Given the description of an element on the screen output the (x, y) to click on. 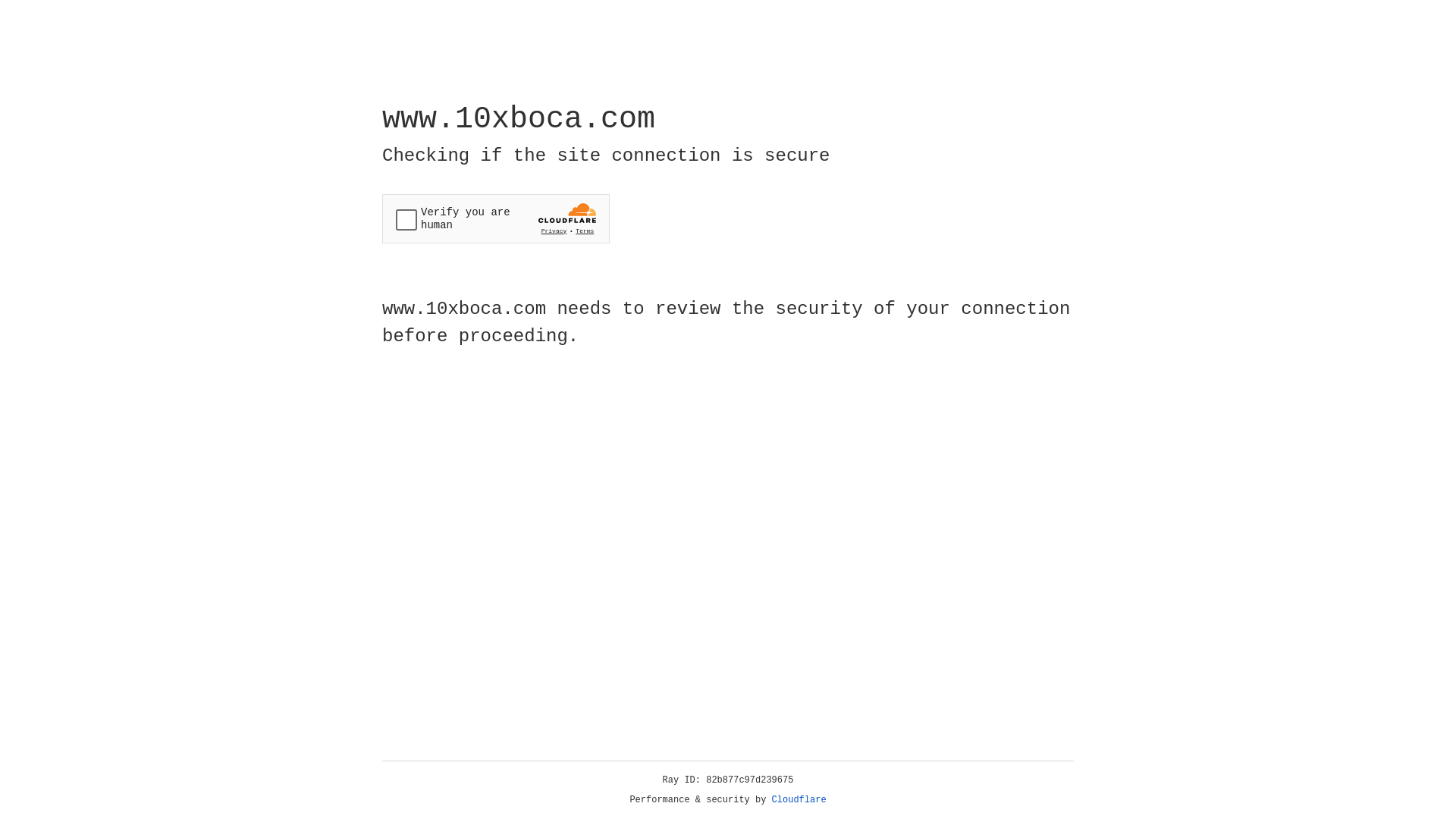
Cloudflare Element type: text (798, 799)
Widget containing a Cloudflare security challenge Element type: hover (495, 218)
